Given the description of an element on the screen output the (x, y) to click on. 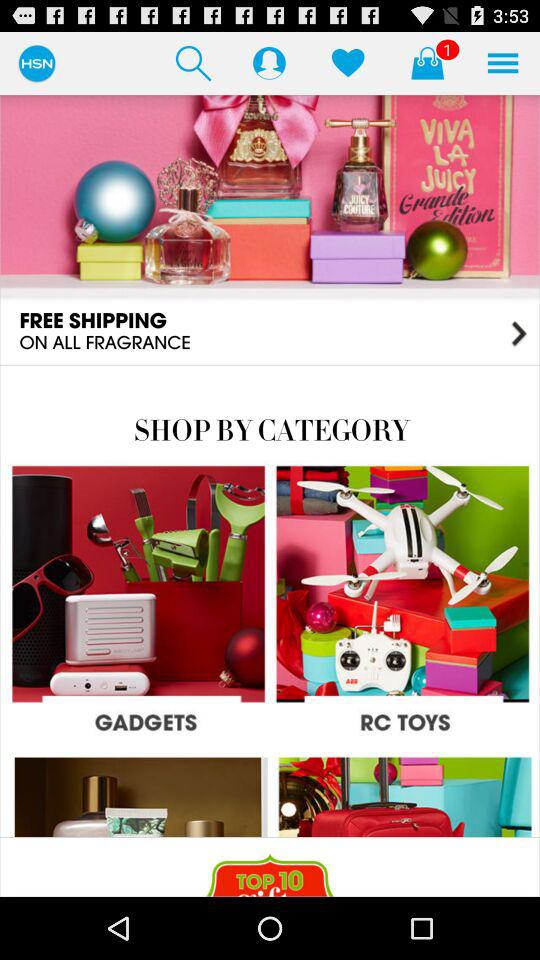
profile photo can visible here (269, 62)
